Given the description of an element on the screen output the (x, y) to click on. 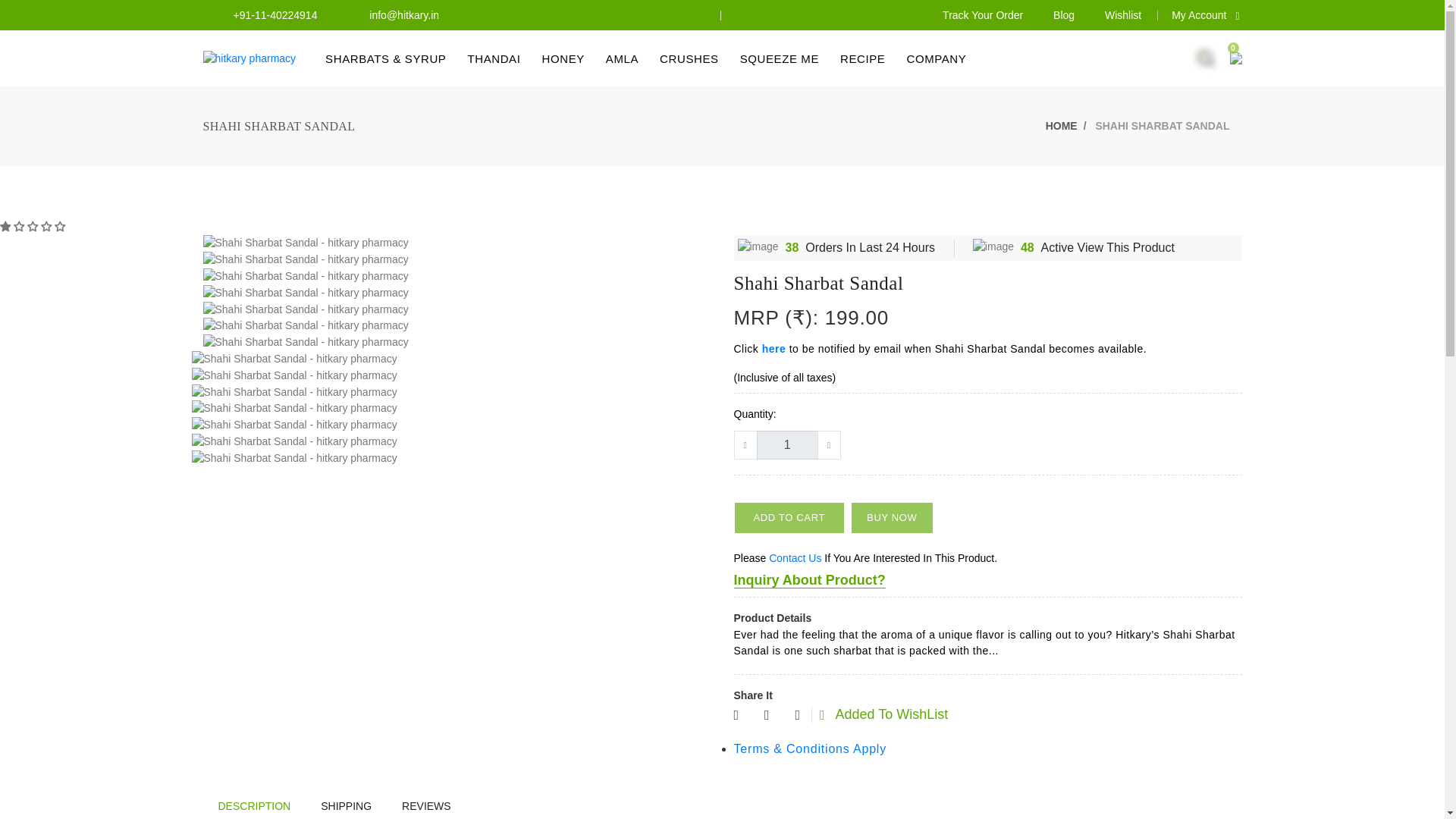
1 (786, 444)
Blog (1063, 15)
Track Your Order (982, 15)
Wishlist (1123, 15)
